Given the description of an element on the screen output the (x, y) to click on. 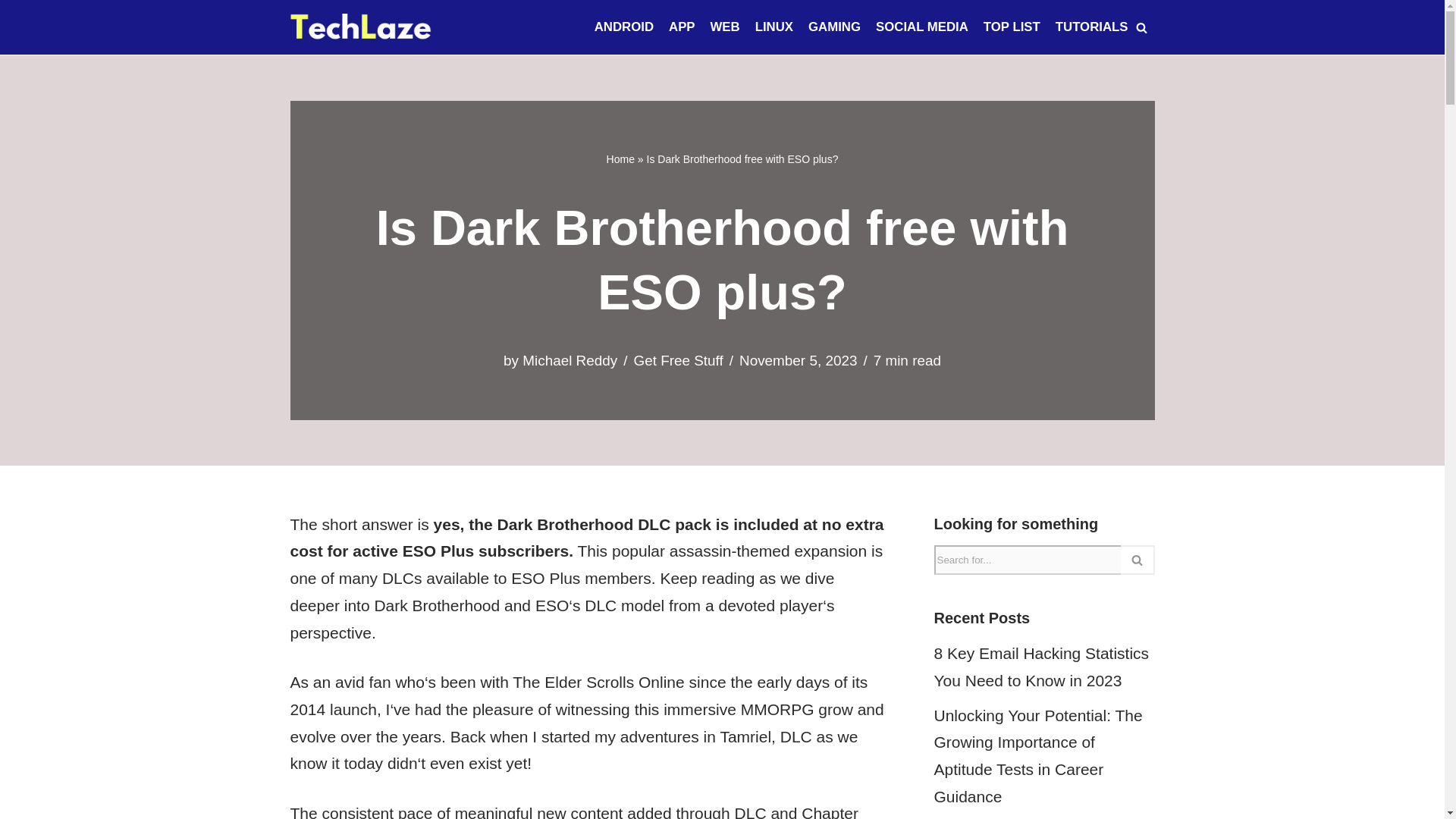
WEB (724, 27)
APP (681, 27)
TOP LIST (1012, 27)
TUTORIALS (1091, 27)
GAMING (834, 27)
Get Free Stuff (677, 360)
Michael Reddy (569, 360)
Home (620, 159)
Skip to content (11, 31)
Posts by Michael Reddy (569, 360)
LINUX (774, 27)
ANDROID (623, 27)
TechLaze (359, 26)
SOCIAL MEDIA (922, 27)
